Given the description of an element on the screen output the (x, y) to click on. 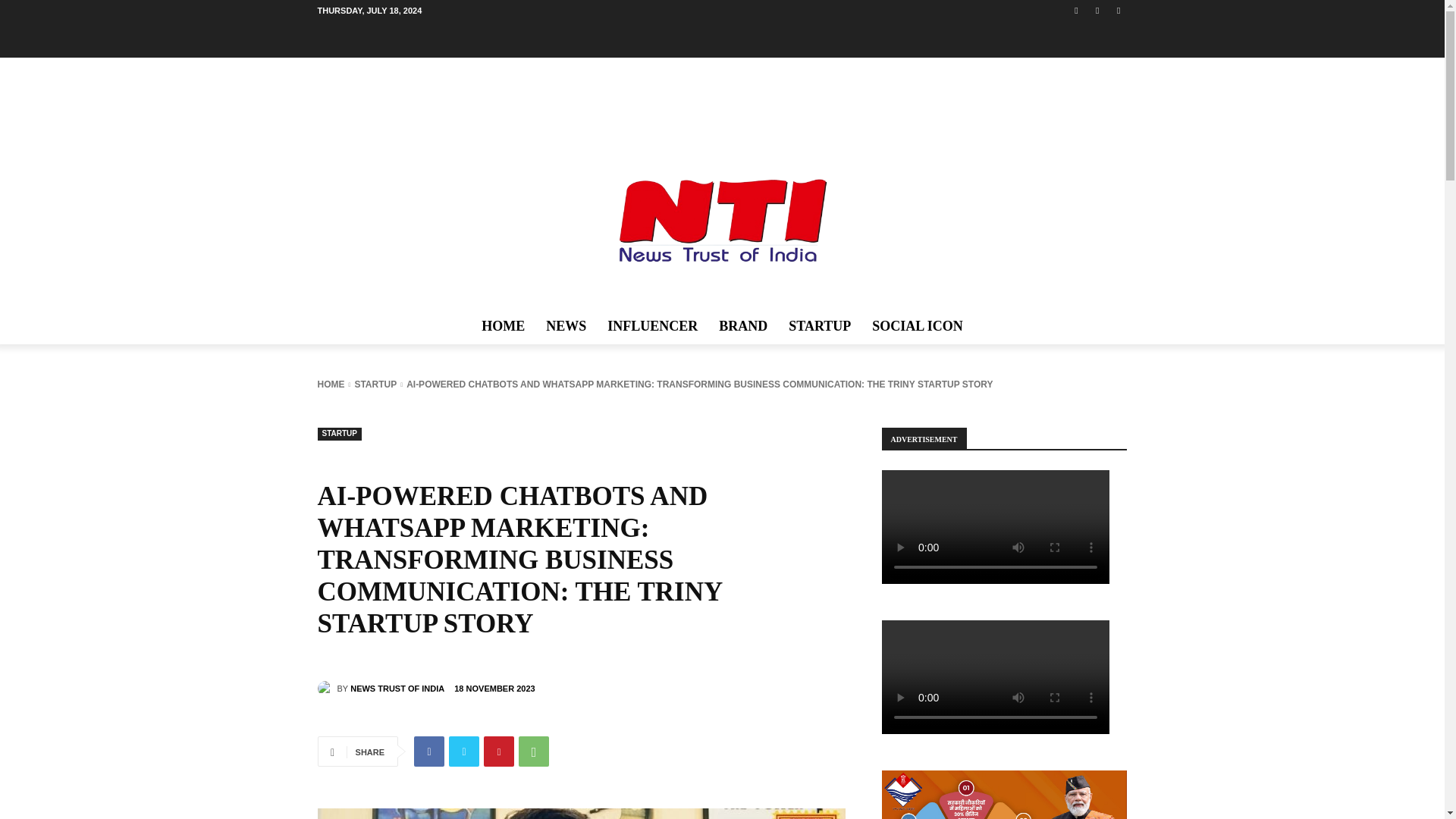
STARTUP (339, 433)
Facebook (428, 751)
Twitter (1117, 9)
Facebook (1075, 9)
Gautam Rajesh Shelley, Founder, Triny (580, 813)
Instagram (1097, 9)
HOME (330, 384)
HOME (502, 325)
SOCIAL ICON (917, 325)
NEWS (565, 325)
News Trust of India (721, 220)
STARTUP (374, 384)
News Trust of India (326, 688)
News Trust of India (721, 220)
INFLUENCER (651, 325)
